Given the description of an element on the screen output the (x, y) to click on. 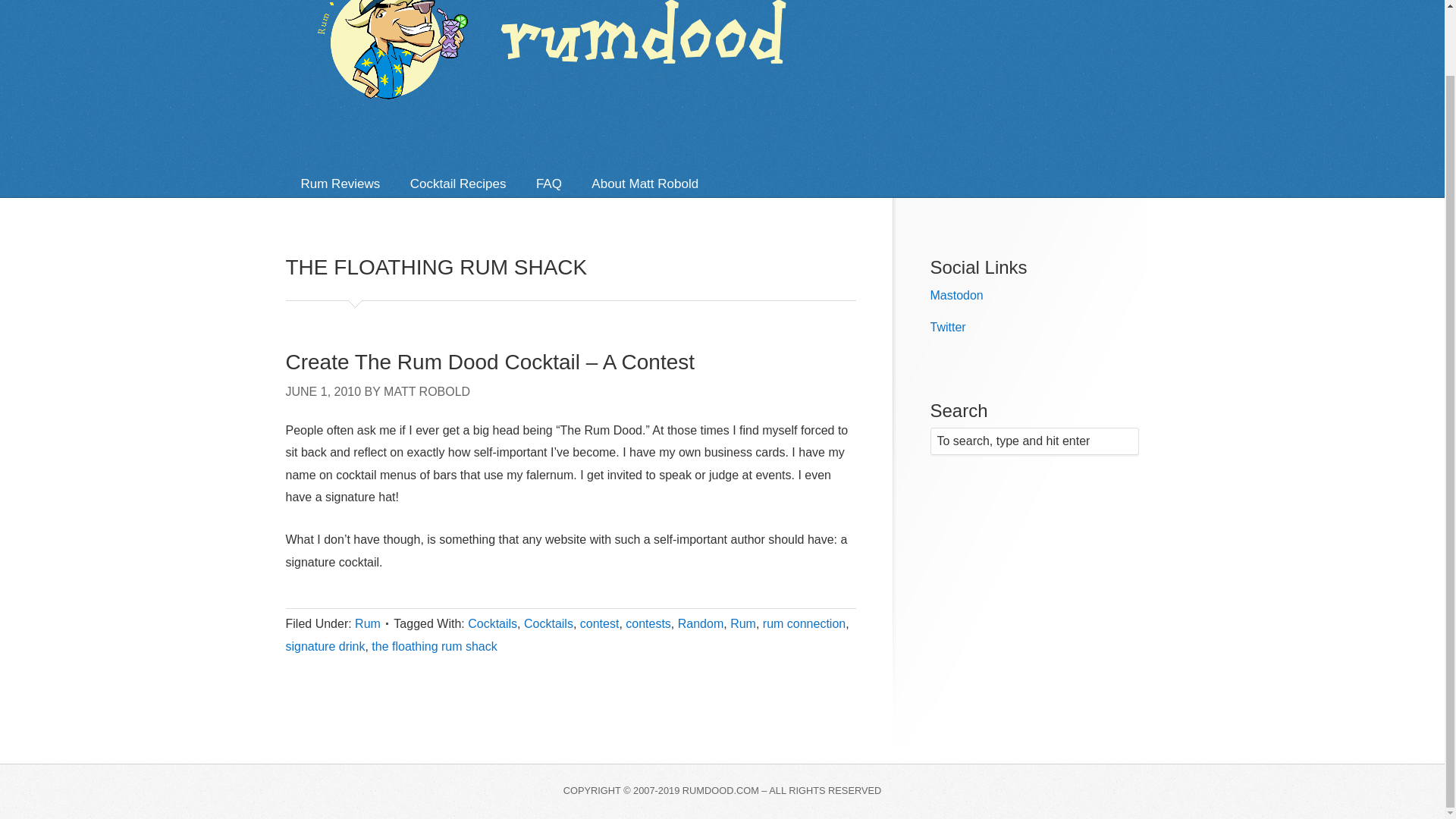
back to home page (588, 64)
Twitter (947, 327)
2010-06-01 (323, 391)
Rum (367, 623)
the floathing rum shack (433, 645)
FAQ (548, 184)
Rum (742, 623)
rum connection (803, 623)
Mastodon (956, 295)
About Matt Robold (644, 184)
